Given the description of an element on the screen output the (x, y) to click on. 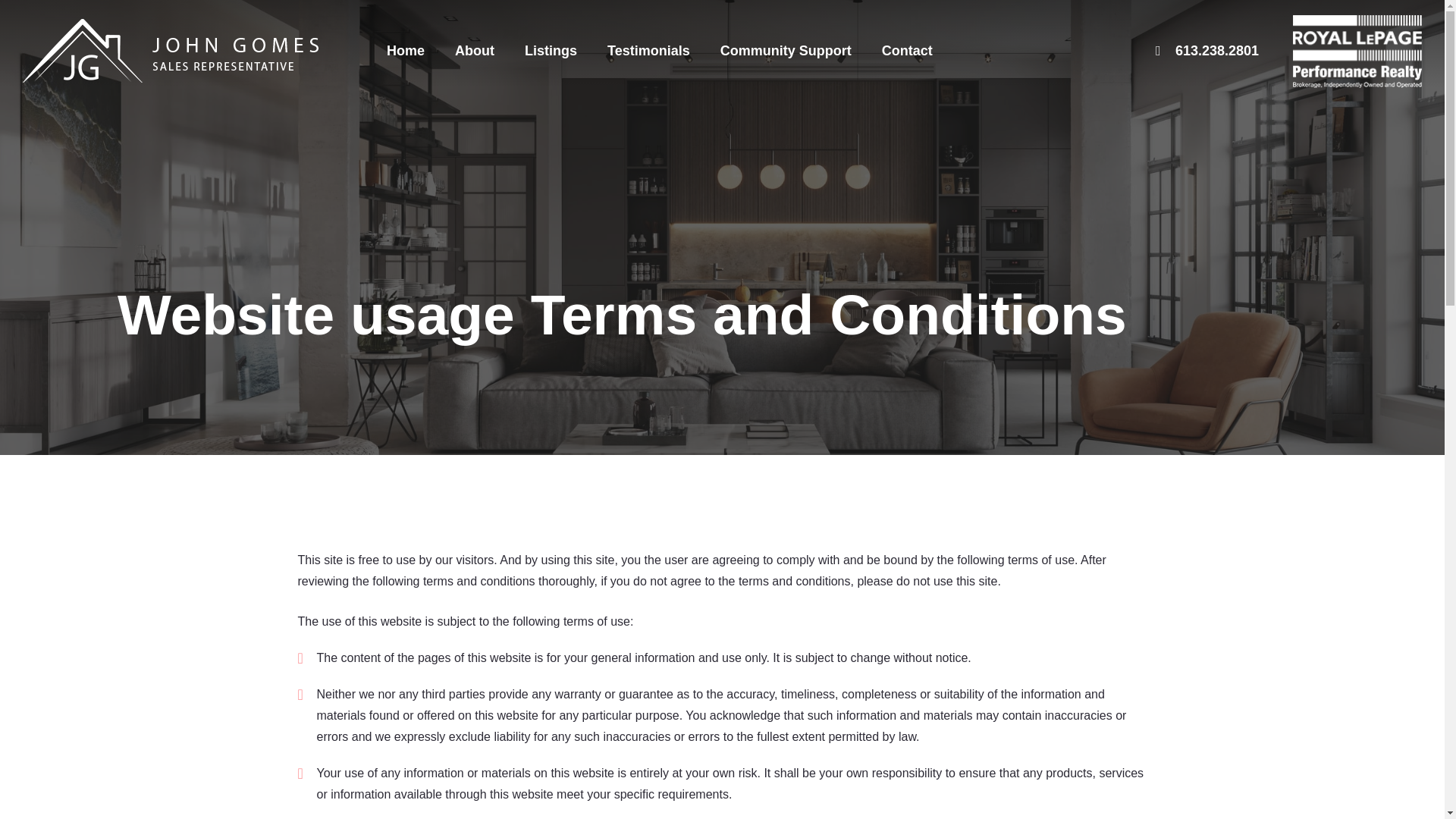
Home (406, 50)
Testimonials (648, 50)
Listings (550, 50)
About (474, 50)
Contact (907, 50)
Community Support (785, 50)
